Given the description of an element on the screen output the (x, y) to click on. 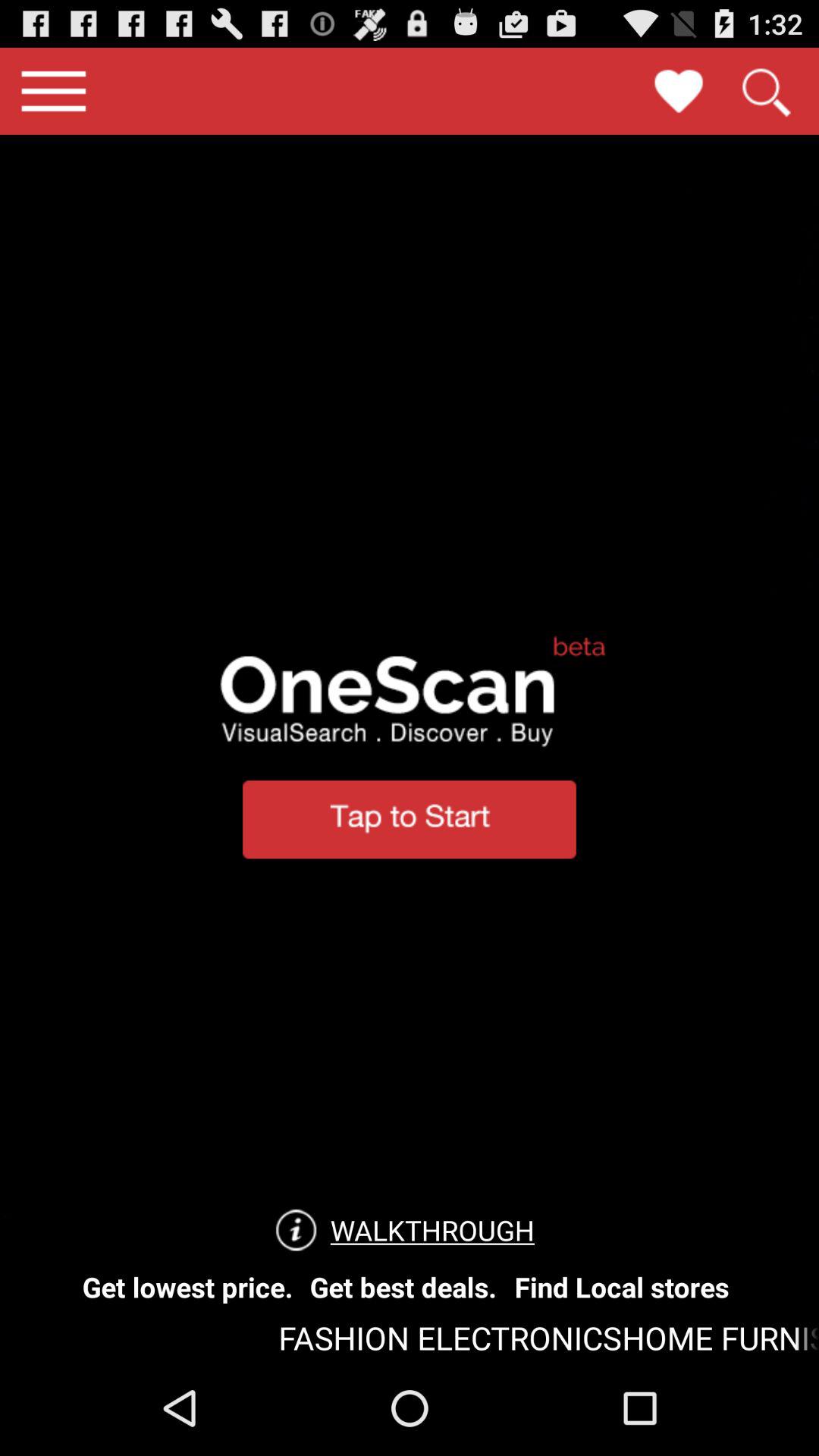
zoom (764, 91)
